Given the description of an element on the screen output the (x, y) to click on. 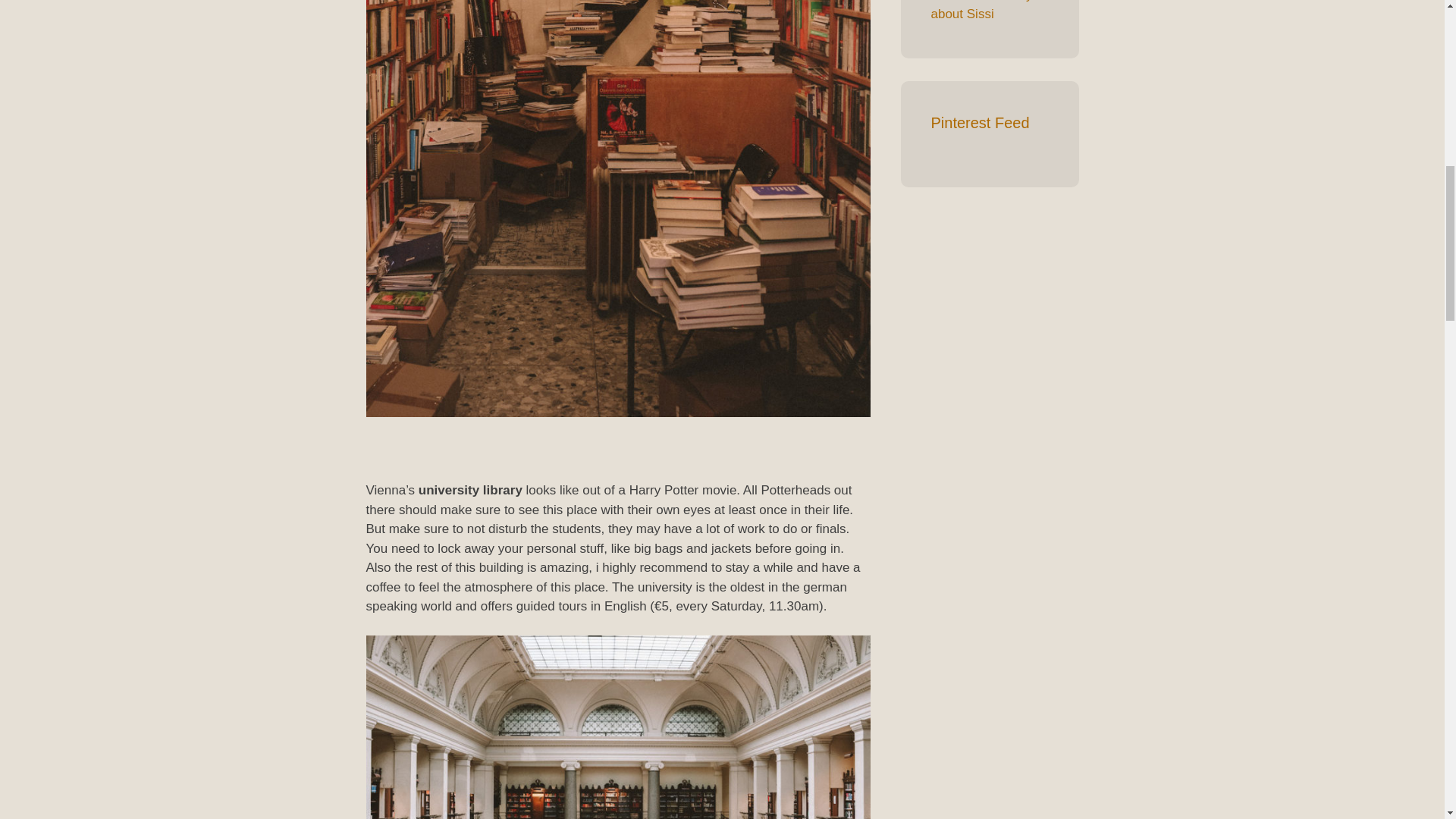
Nach oben scrollen (1406, 720)
